Given the description of an element on the screen output the (x, y) to click on. 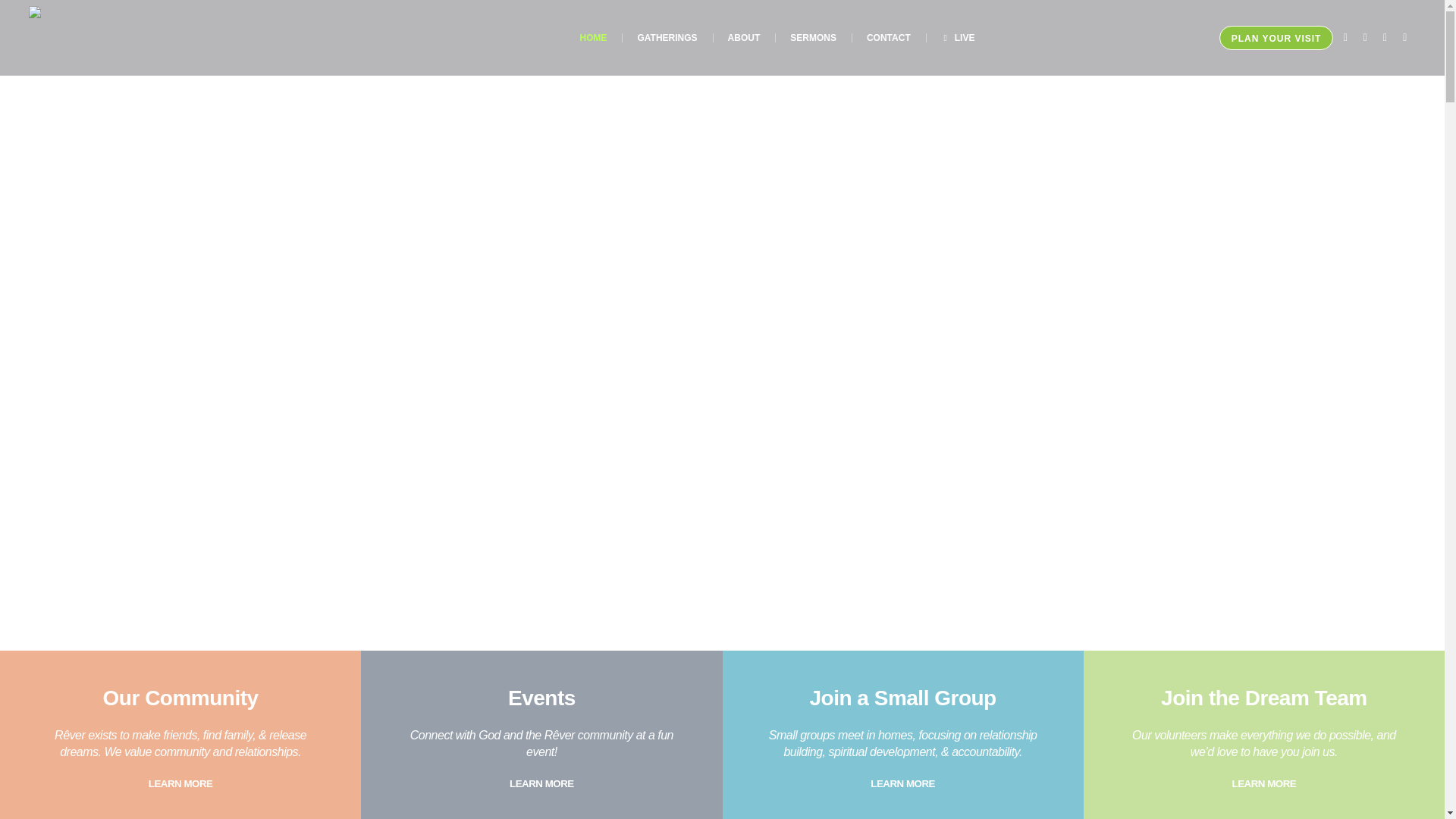
Twitter (1385, 37)
GATHERINGS (666, 37)
rss (1404, 37)
PLAN YOUR VISIT (1276, 37)
SERMONS (812, 37)
CONTACT (888, 37)
Instagram (1364, 37)
Facebook (1345, 37)
